Given the description of an element on the screen output the (x, y) to click on. 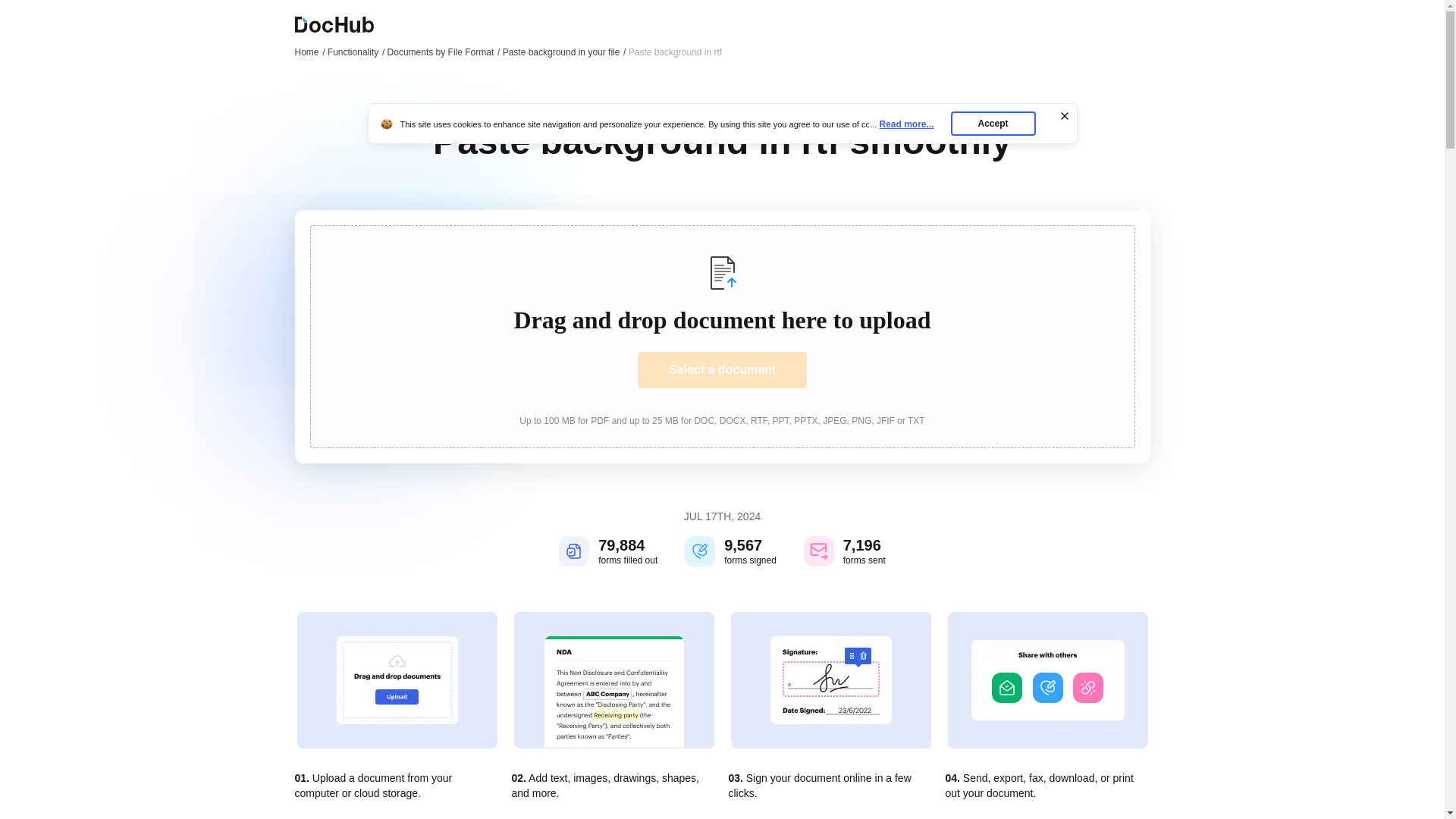
Home (309, 51)
Documents by File Format (443, 51)
Paste background in your file (564, 51)
Functionality (355, 51)
Select a document (721, 370)
